Given the description of an element on the screen output the (x, y) to click on. 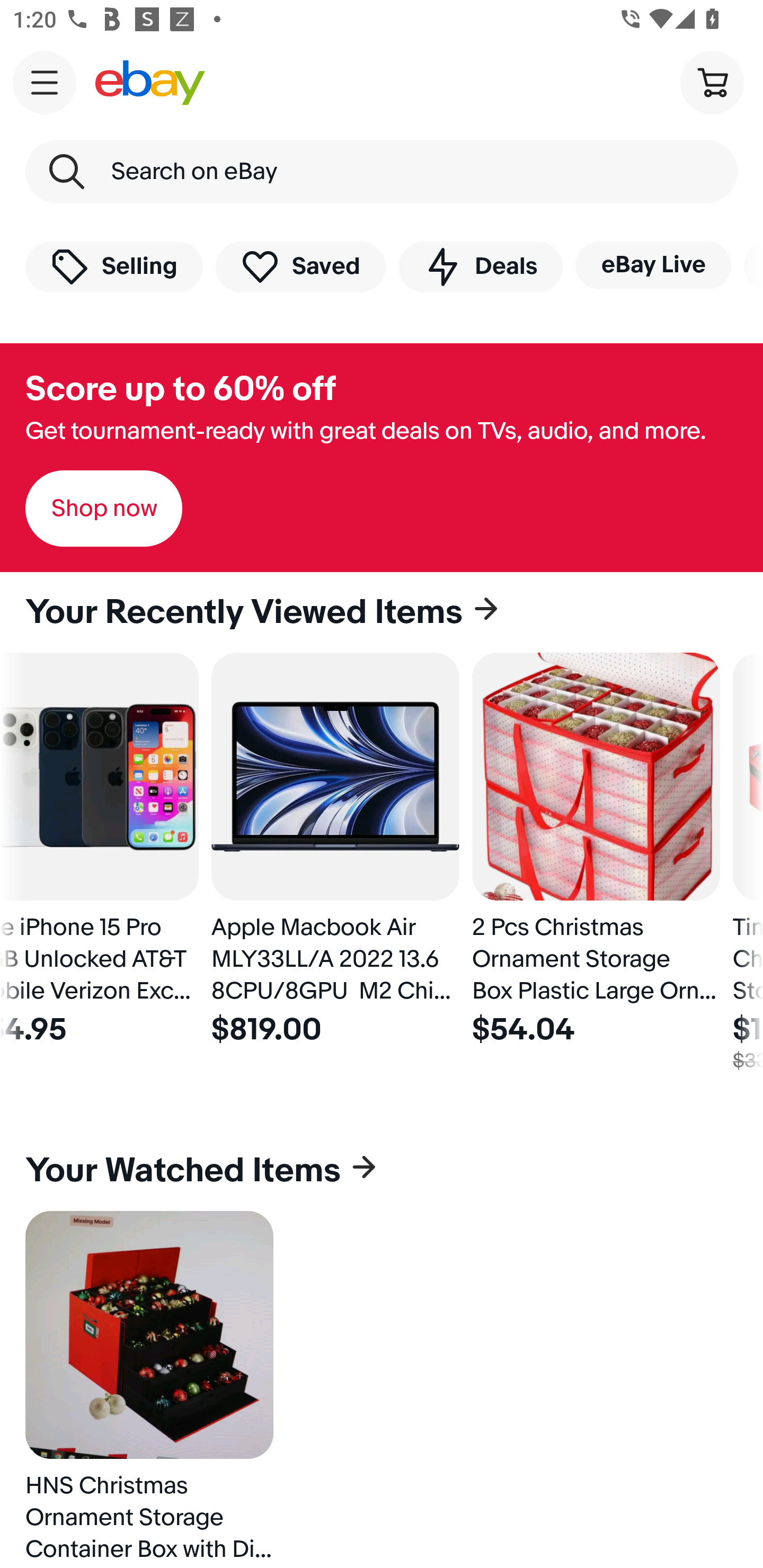
Main navigation, open (44, 82)
Cart button shopping cart (711, 81)
Search on eBay Search Keyword Search on eBay (381, 171)
Selling (113, 266)
Saved (300, 266)
Deals (480, 266)
eBay Live (652, 264)
Score up to 60% off (180, 389)
Shop now (103, 508)
Your Recently Viewed Items   (381, 612)
Your Watched Items   (381, 1170)
